Given the description of an element on the screen output the (x, y) to click on. 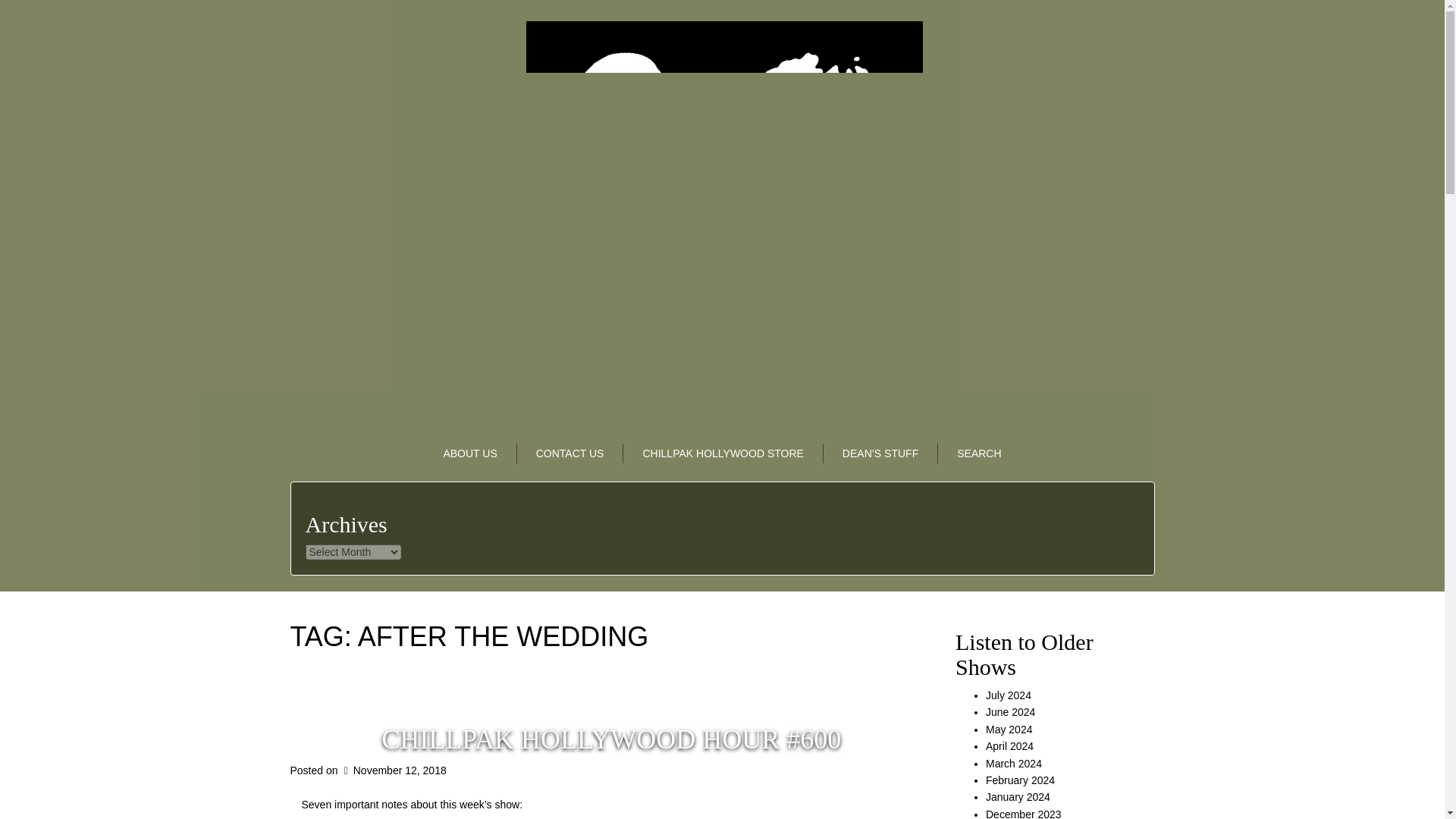
November 12, 2018 (392, 770)
CONTACT US (570, 453)
Dean's Stuff (880, 453)
About Us (469, 453)
Search (978, 453)
SEARCH (978, 453)
CHILLPAK HOLLYWOOD STORE (722, 453)
Chillpak Hollywood Store (722, 453)
ABOUT US (469, 453)
Contact Us (570, 453)
